Given the description of an element on the screen output the (x, y) to click on. 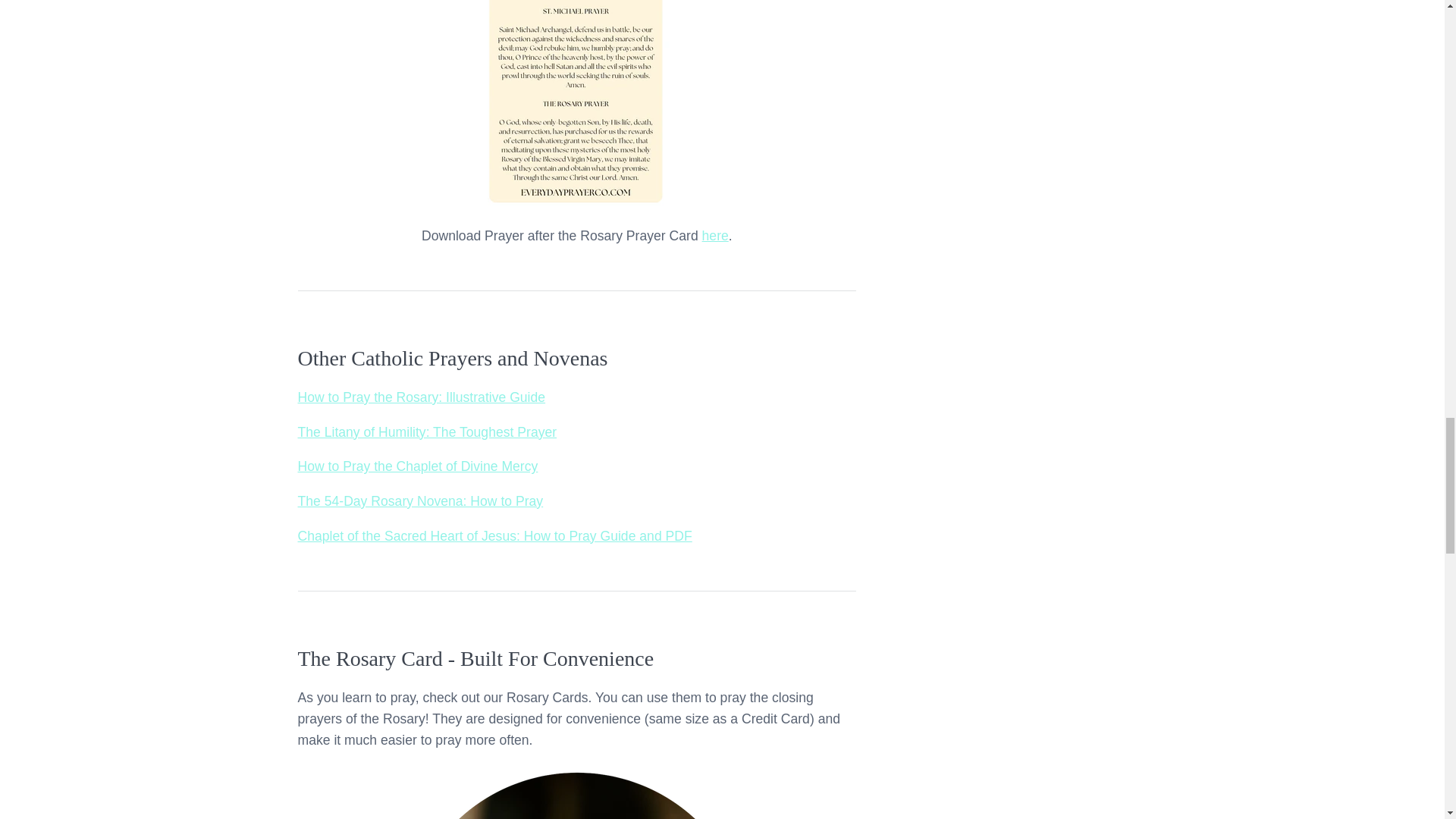
How to Pray the Chaplet of Divine Mercy (417, 466)
The Litany of Humility: The Toughest Prayer (426, 432)
here (715, 235)
The 54-Day Rosary Novena: How to Pray (420, 500)
How to Pray the Rosary: Illustrative Guide (420, 396)
